Given the description of an element on the screen output the (x, y) to click on. 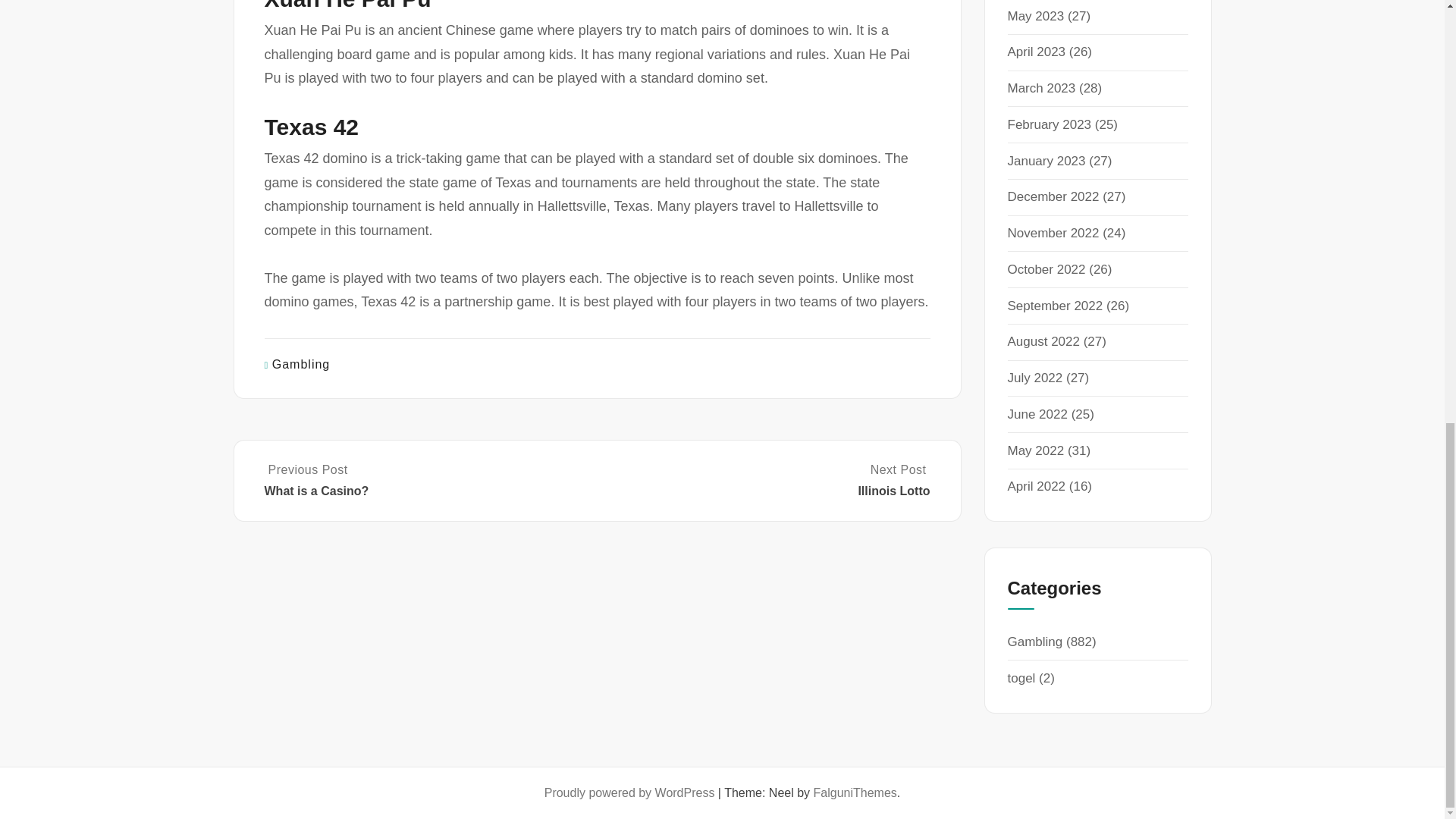
May 2023 (1035, 16)
April 2023 (1036, 51)
October 2022 (1045, 269)
Gambling (301, 364)
November 2022 (1053, 233)
January 2023 (1045, 160)
September 2022 (1054, 305)
March 2023 (764, 480)
